Given the description of an element on the screen output the (x, y) to click on. 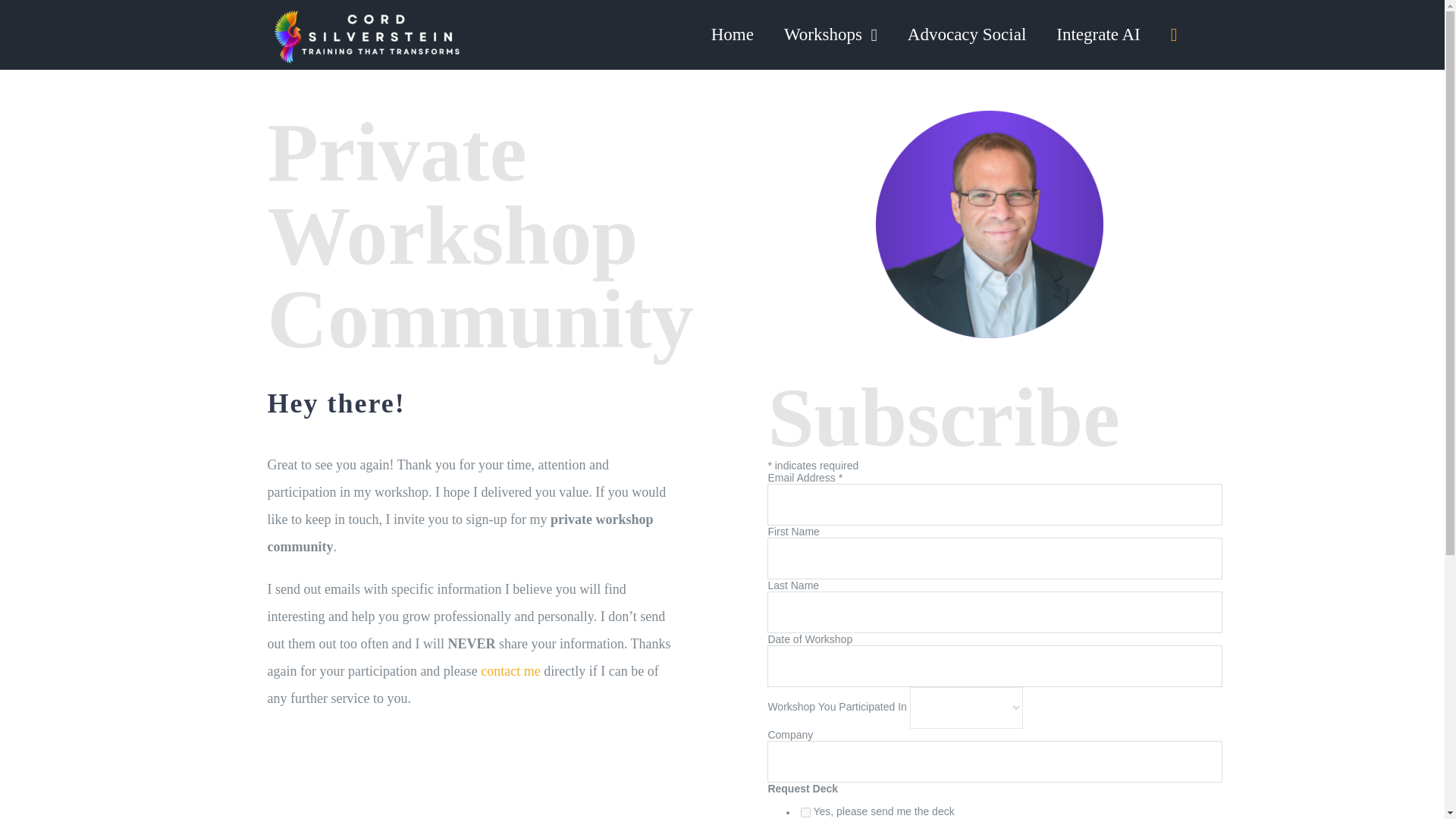
Close Jacket prpl (989, 224)
Workshops (907, 24)
Advocacy Social (1010, 24)
Home (732, 34)
Advocacy Social (966, 34)
Integrate AI (1110, 24)
Home (828, 24)
Integrate AI (1098, 34)
Workshops (830, 34)
contact me (510, 670)
